Given the description of an element on the screen output the (x, y) to click on. 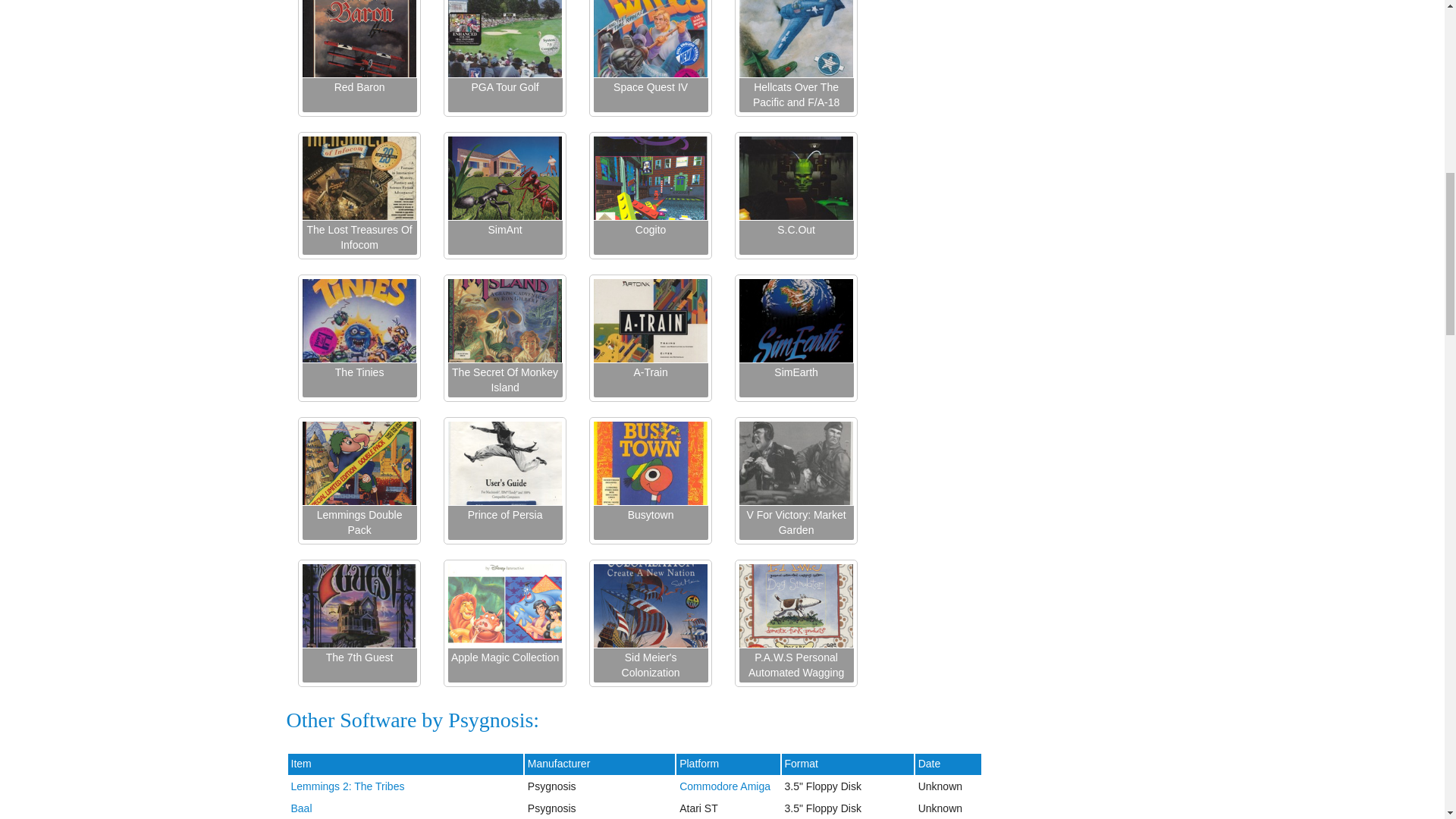
The Lost Treasures Of Infocom (358, 237)
Red Baron (358, 94)
SimAnt (504, 237)
PGA Tour Golf (504, 94)
Space Quest IV (649, 94)
